Given the description of an element on the screen output the (x, y) to click on. 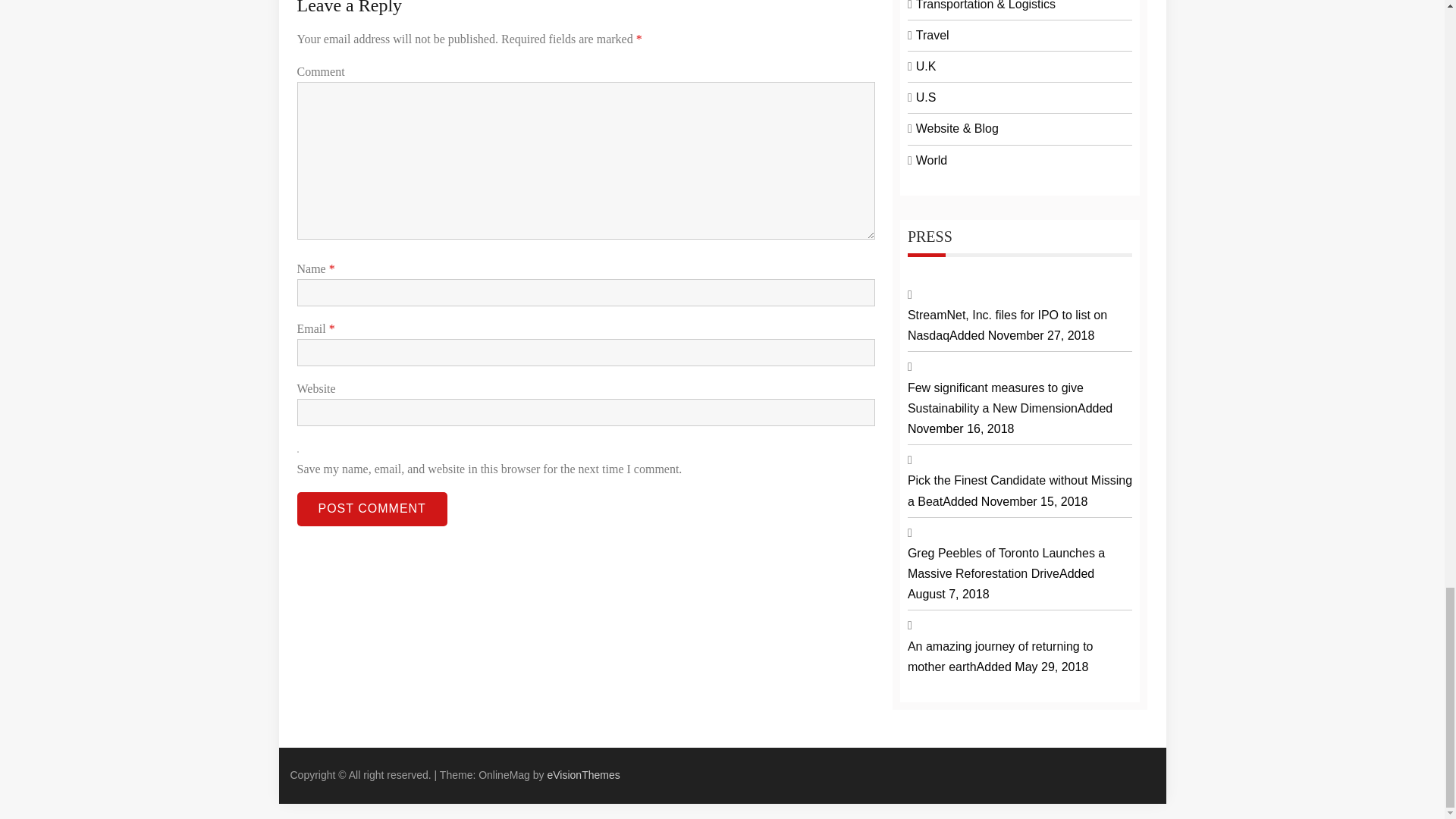
Post Comment (371, 509)
Post Comment (371, 509)
